Given the description of an element on the screen output the (x, y) to click on. 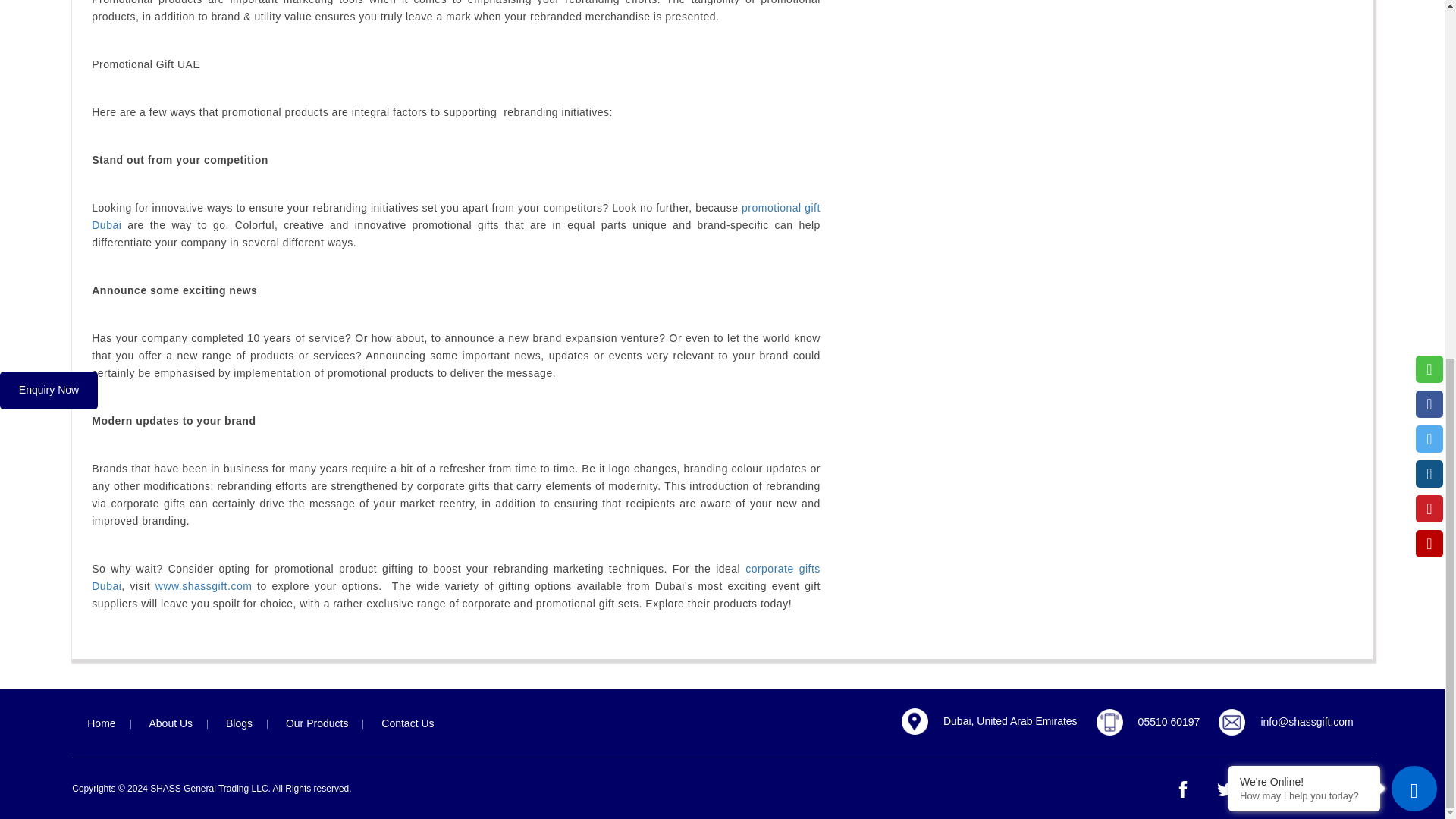
corporate gifts Dubai (456, 577)
promotional gift Dubai (456, 215)
Blogs (239, 722)
Home (101, 722)
www.shassgift.com (203, 585)
We're Online! (1304, 147)
About Us (170, 722)
Our Products (316, 722)
How may I help you today? (1304, 161)
